Given the description of an element on the screen output the (x, y) to click on. 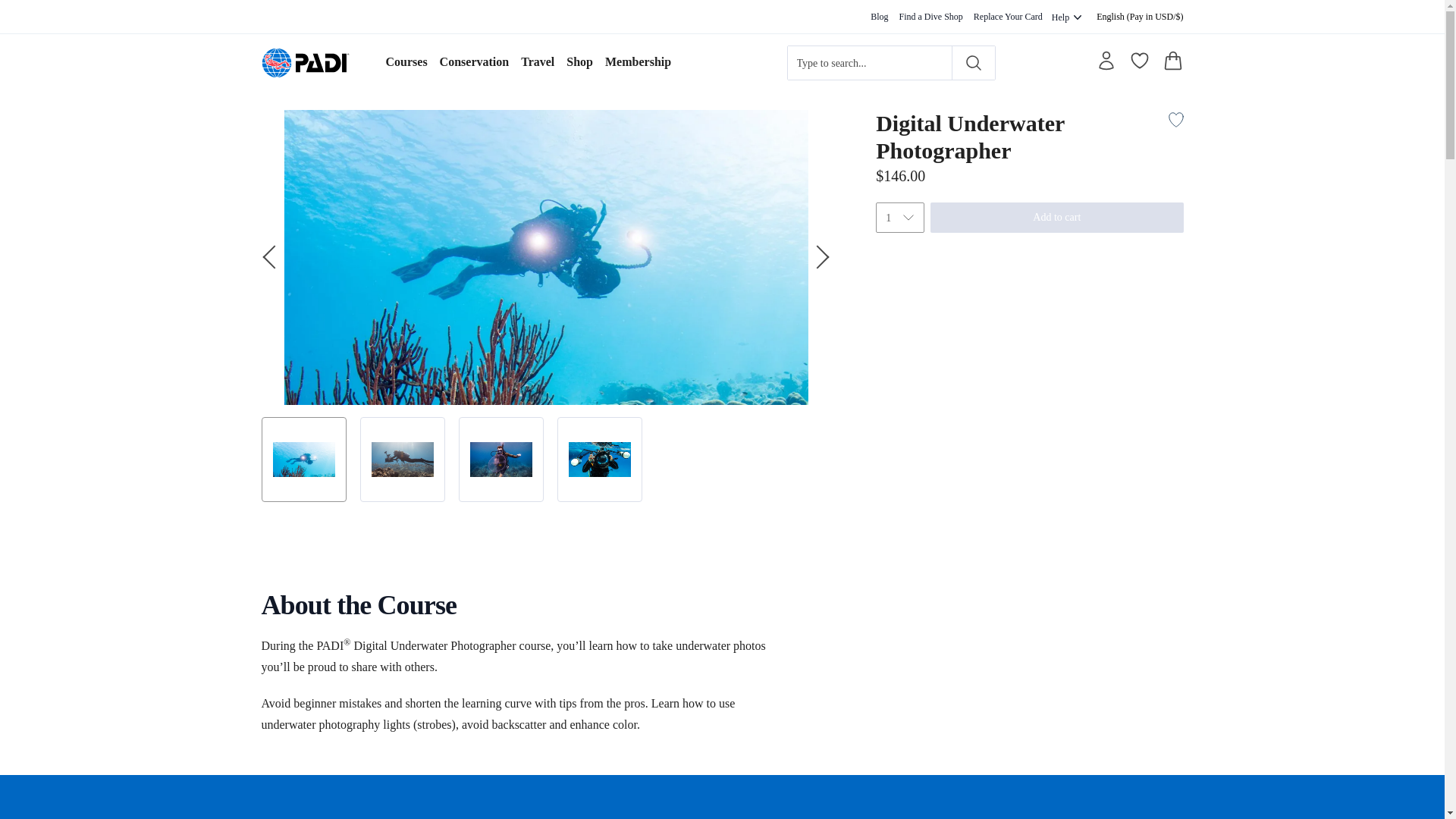
Find a Dive Shop (930, 16)
Help (1067, 16)
Courses (405, 62)
Replace Your Card (1007, 16)
Replace Your Card (1007, 16)
Find a Dive Shop (930, 16)
Courses (405, 62)
